Given the description of an element on the screen output the (x, y) to click on. 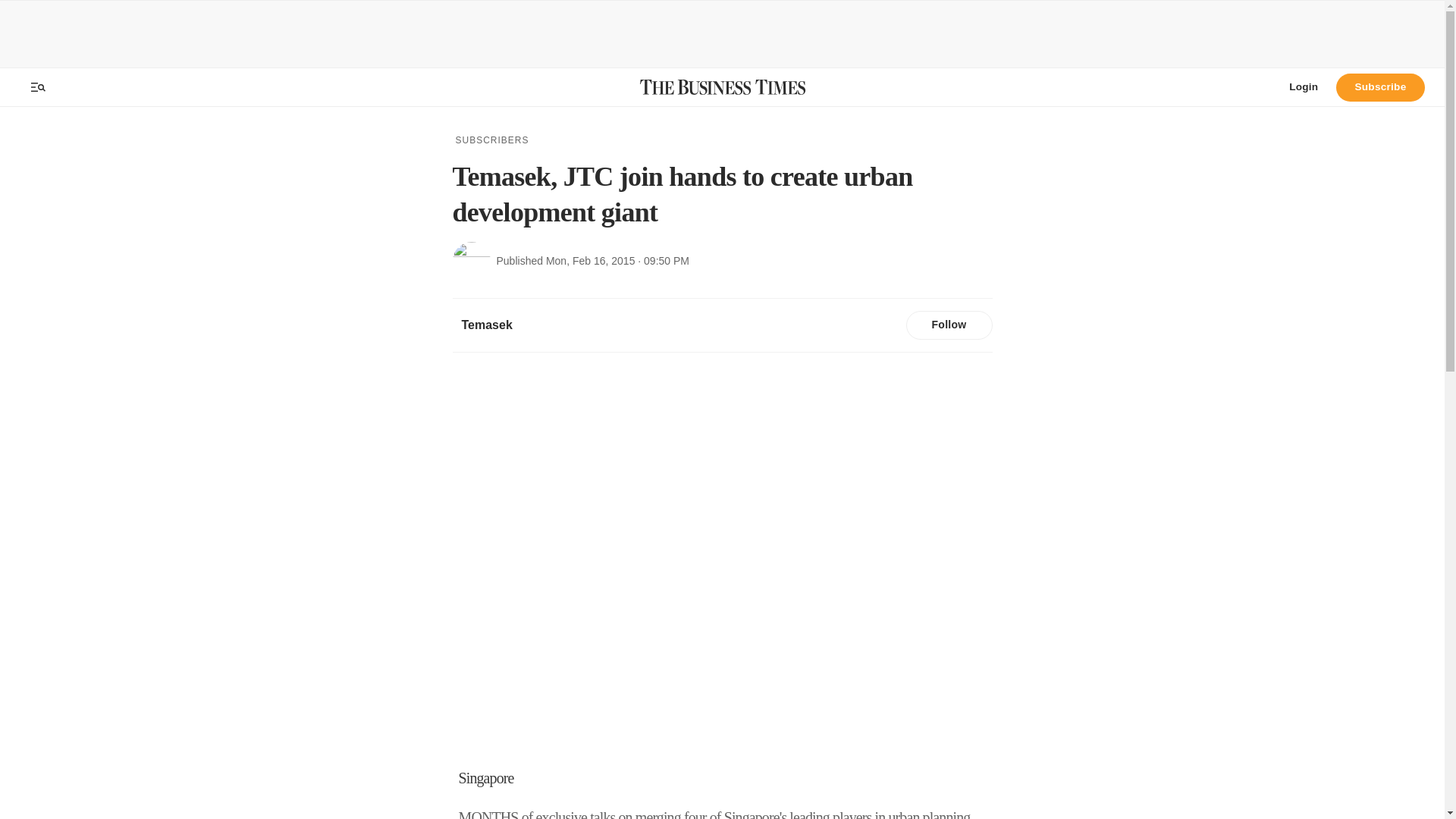
Subscribe (1379, 86)
Follow (948, 325)
The Business Times (722, 86)
Temasek (486, 324)
Login (1302, 86)
